Given the description of an element on the screen output the (x, y) to click on. 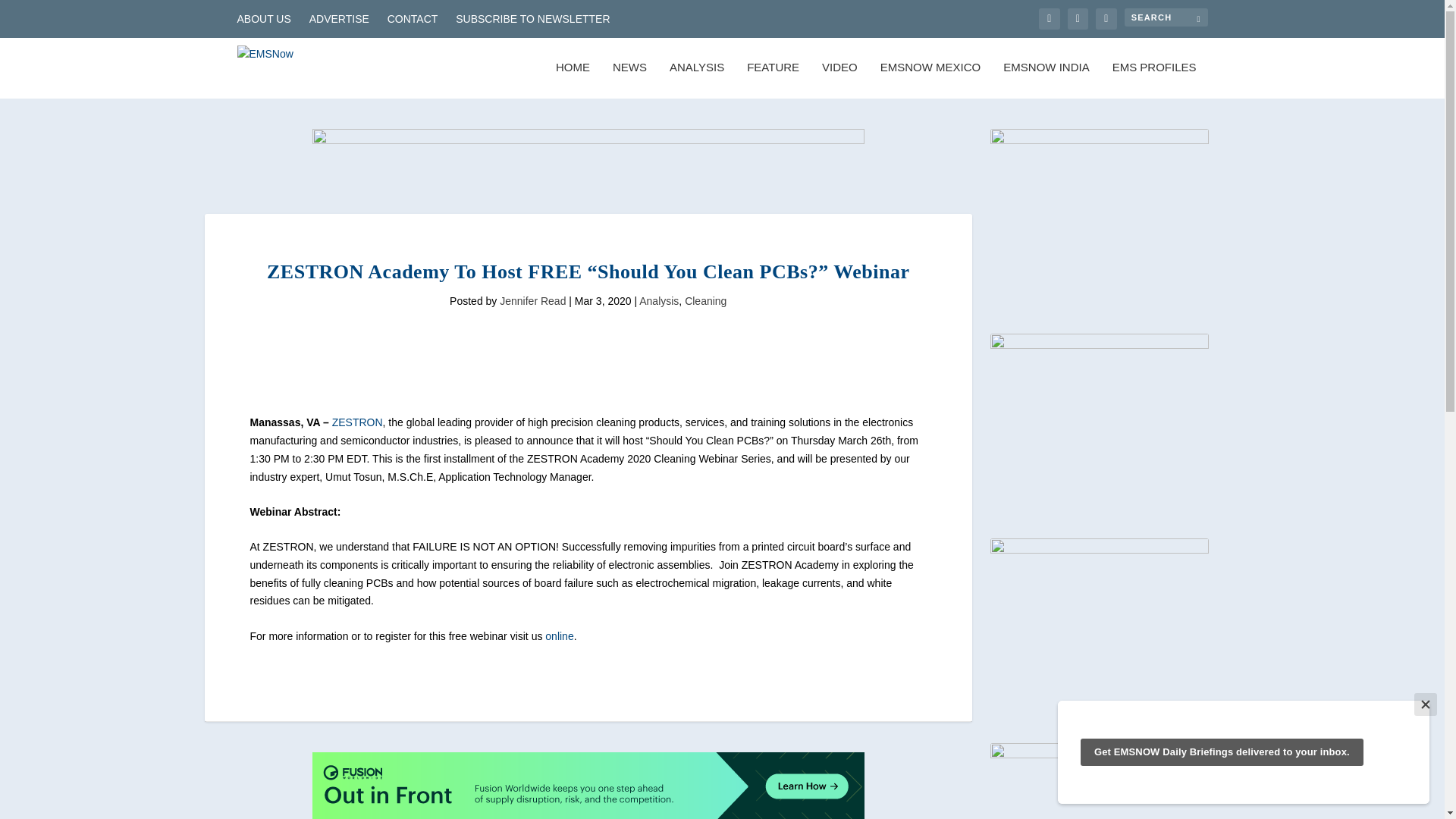
EMS PROFILES (1154, 79)
ZESTRON (356, 422)
CONTACT (412, 18)
ABOUT US (262, 18)
VIDEO (839, 79)
ADVERTISE (338, 18)
EMSNOW MEXICO (930, 79)
online (558, 635)
NEWS (629, 79)
FEATURE (772, 79)
Posts by Jennifer Read (532, 300)
Analysis (658, 300)
Cleaning (705, 300)
EMSNOW INDIA (1046, 79)
Jennifer Read (532, 300)
